Given the description of an element on the screen output the (x, y) to click on. 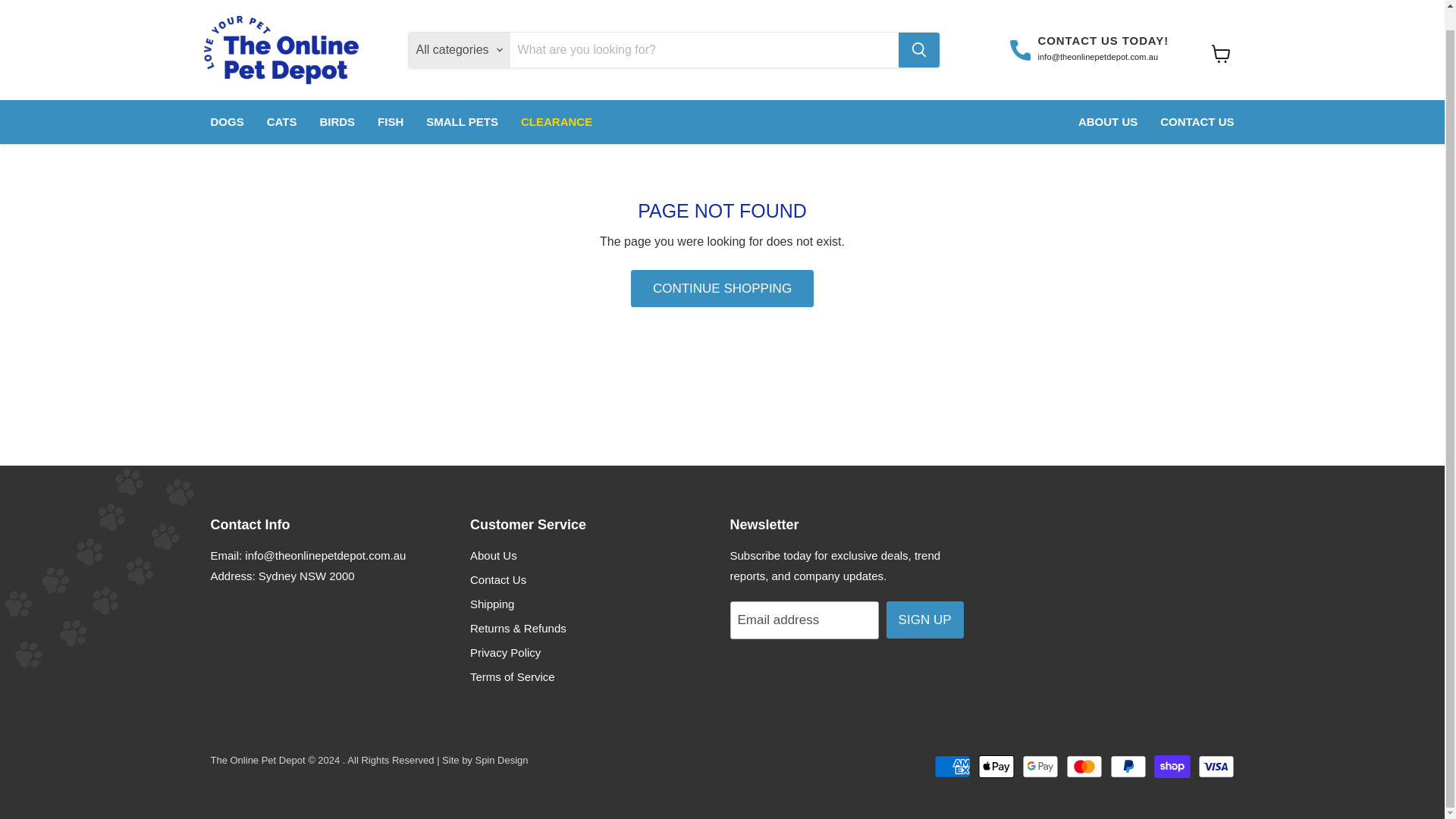
Shipping (491, 603)
About Us (493, 554)
ABOUT US (1107, 101)
Privacy Policy (505, 652)
View cart (1221, 33)
PayPal (1128, 766)
Visa (1216, 766)
American Express (952, 766)
Apple Pay (996, 766)
Contact Us (497, 579)
BIRDS (336, 101)
CATS (282, 101)
Spin Design (500, 759)
DOGS (226, 101)
